Given the description of an element on the screen output the (x, y) to click on. 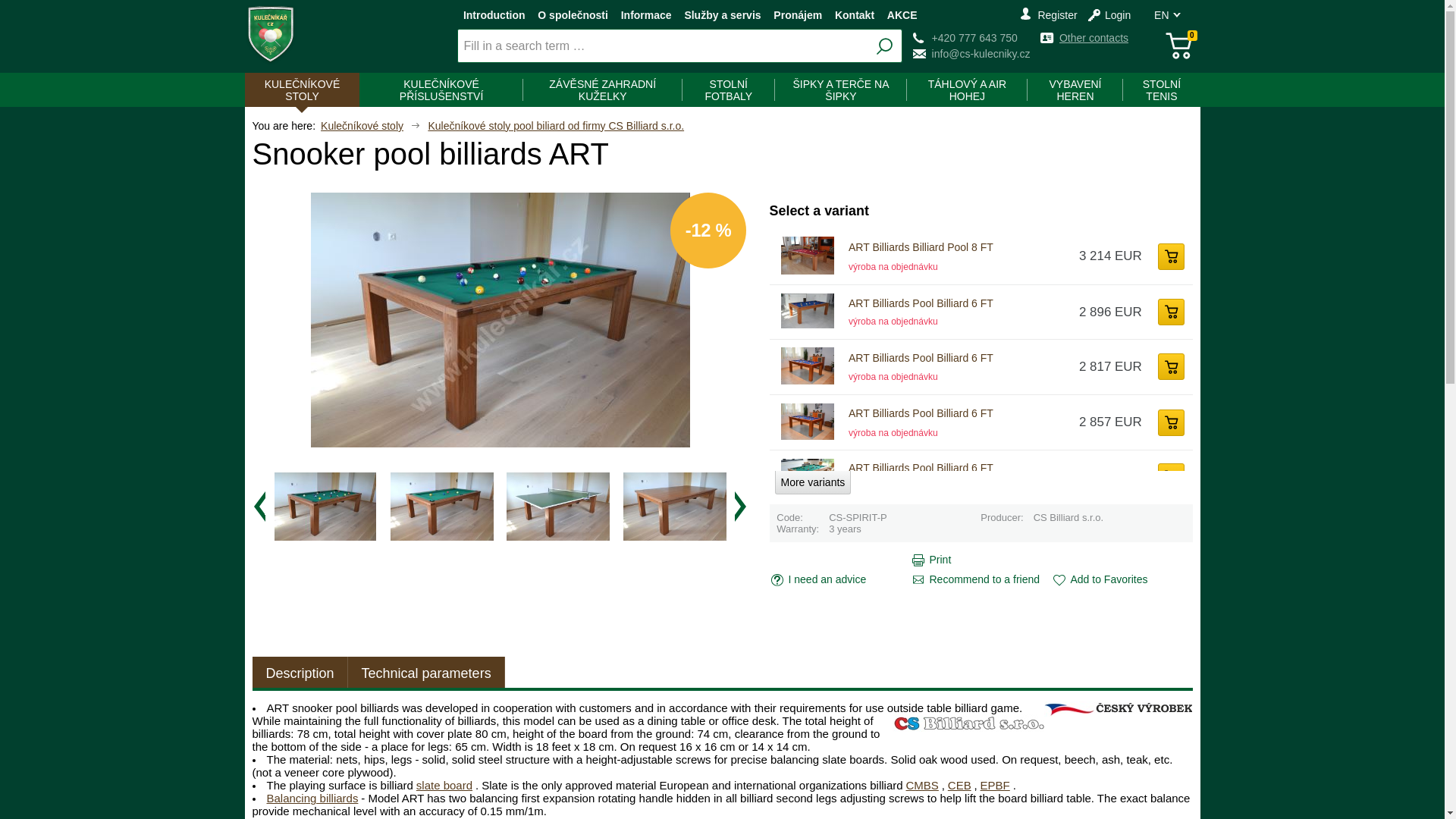
Informace (646, 15)
Introduction (494, 15)
Snooker pool billiards ART (500, 319)
Kontakt (854, 15)
Register (1048, 15)
Login (1109, 15)
Snooker pool billiards ART (325, 506)
AKCE (901, 15)
Snooker pool billiards ART (558, 506)
Other contacts (1084, 37)
